Given the description of an element on the screen output the (x, y) to click on. 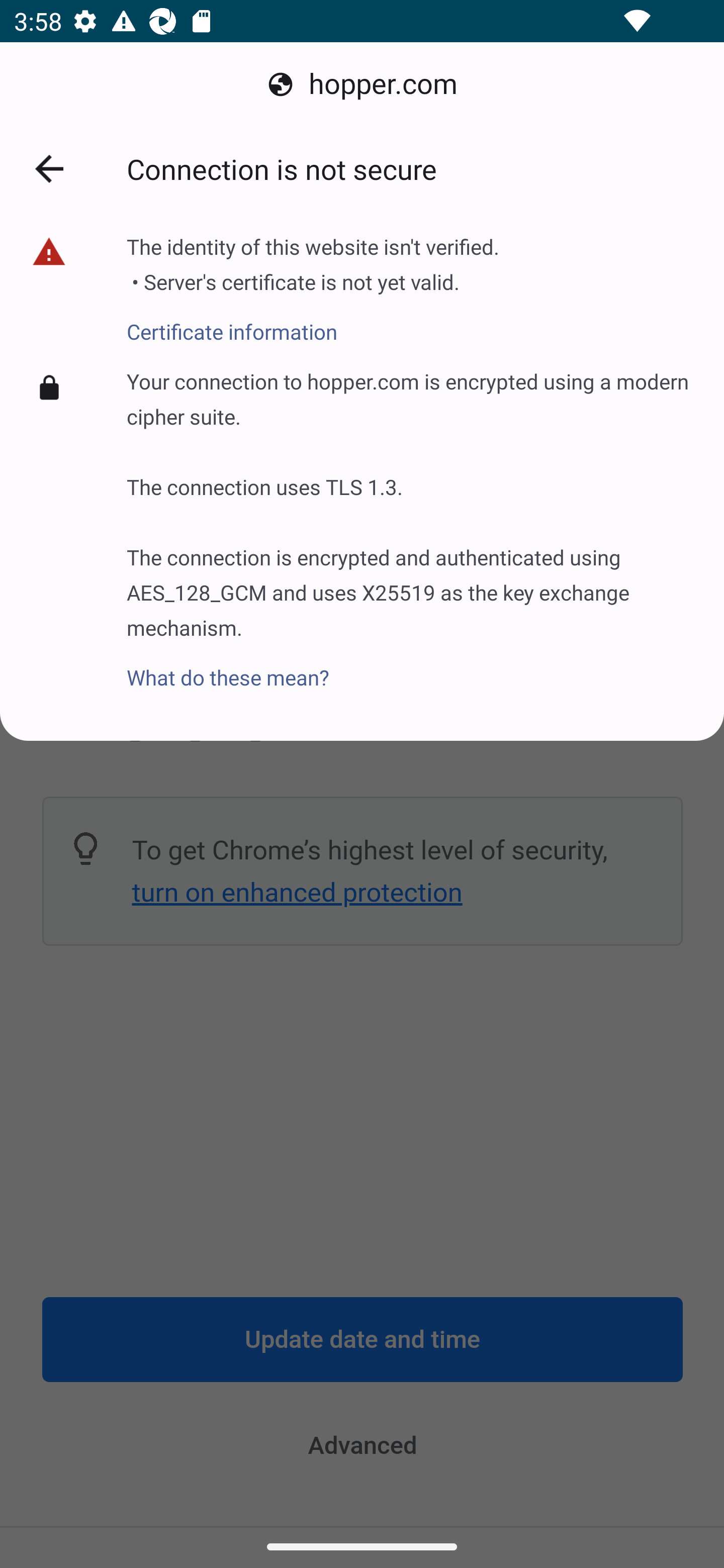
hopper.com (362, 84)
Back (49, 169)
Certificate information (312, 321)
What do these mean? (410, 666)
